Given the description of an element on the screen output the (x, y) to click on. 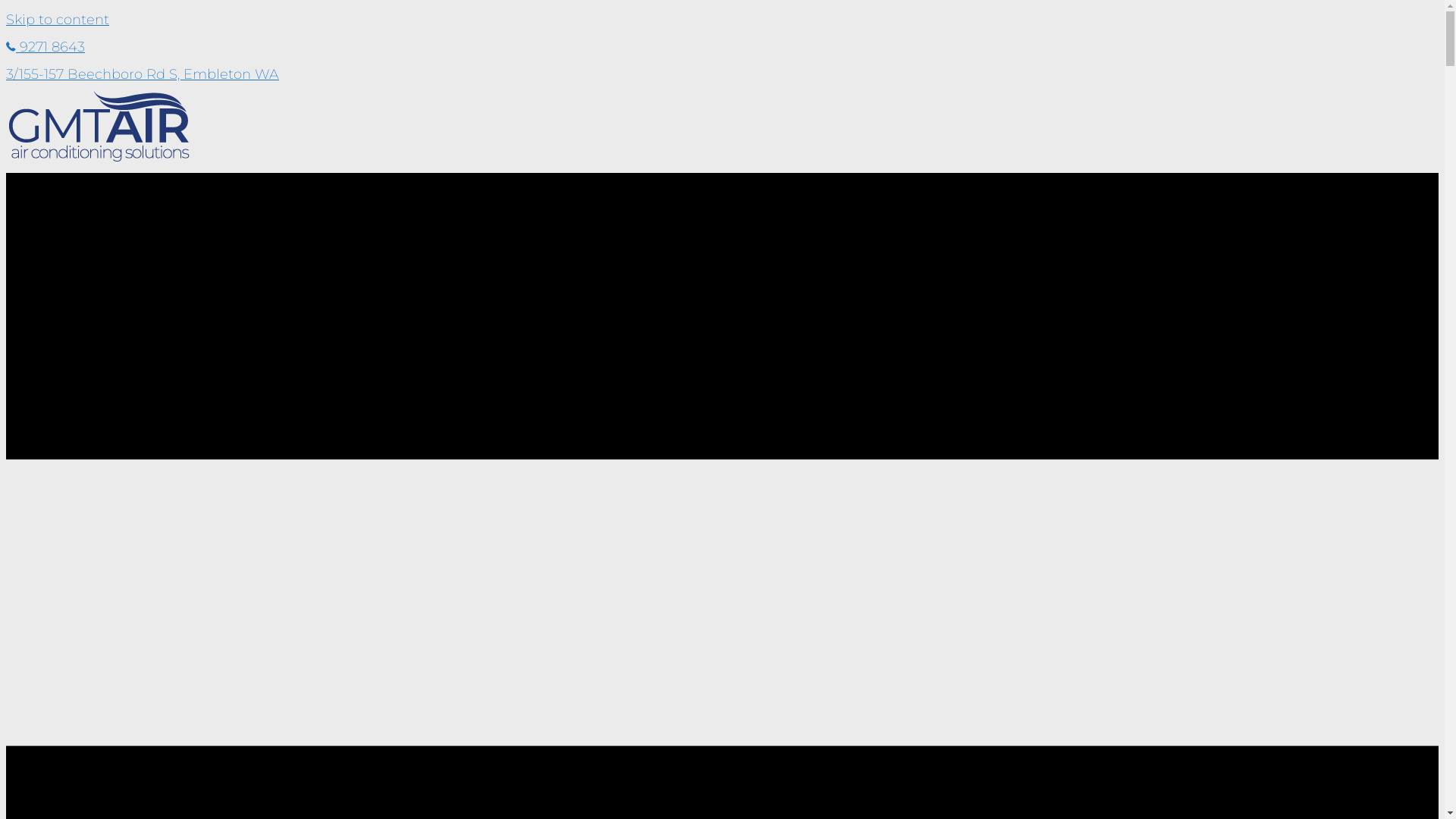
gmt-air-logo Element type: hover (98, 125)
Skip to content Element type: text (57, 19)
9271 8643 Element type: text (45, 46)
3/155-157 Beechboro Rd S, Embleton WA Element type: text (142, 73)
